Given the description of an element on the screen output the (x, y) to click on. 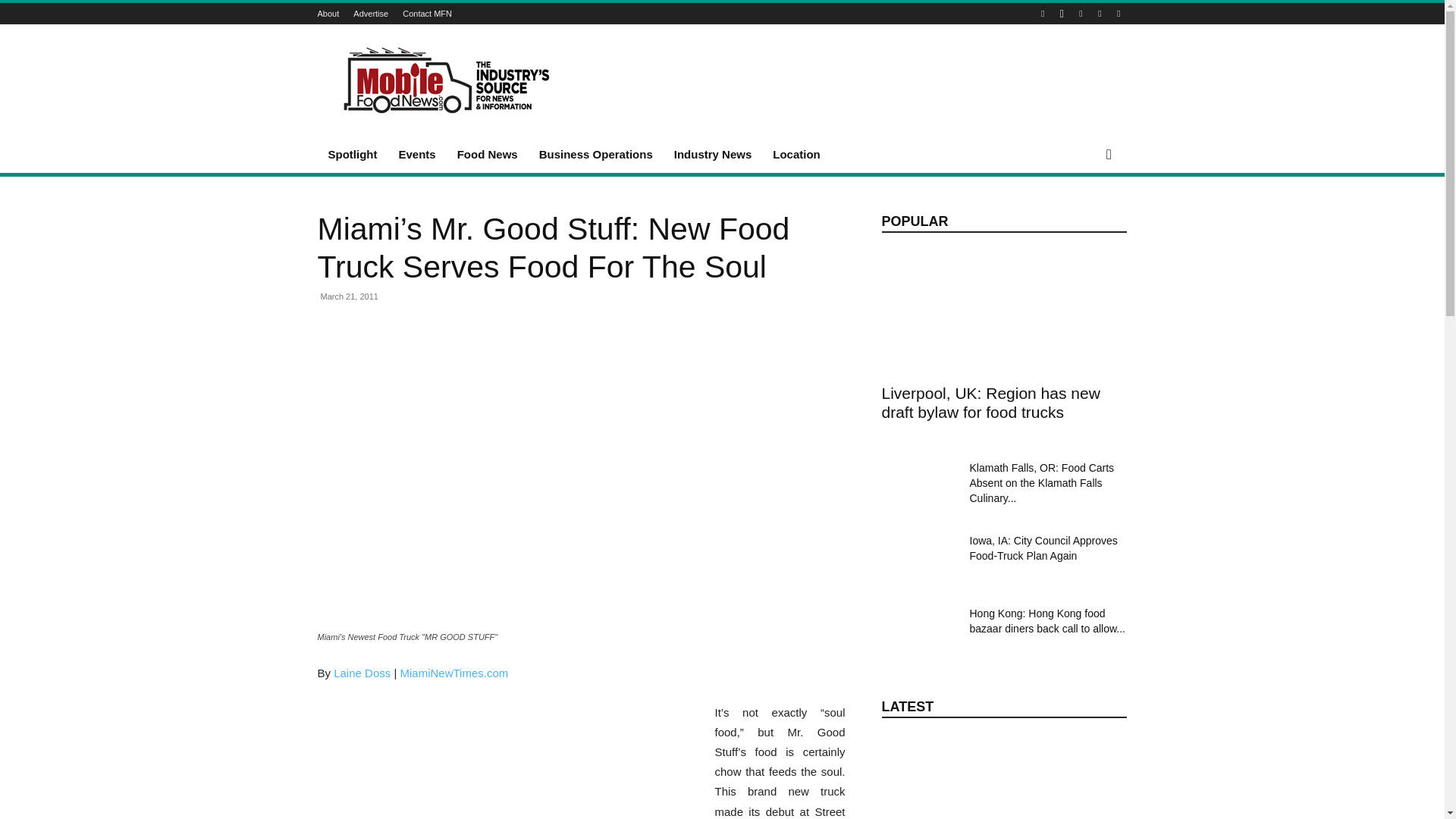
About (328, 13)
Contact MFN (427, 13)
Advertise (370, 13)
